Given the description of an element on the screen output the (x, y) to click on. 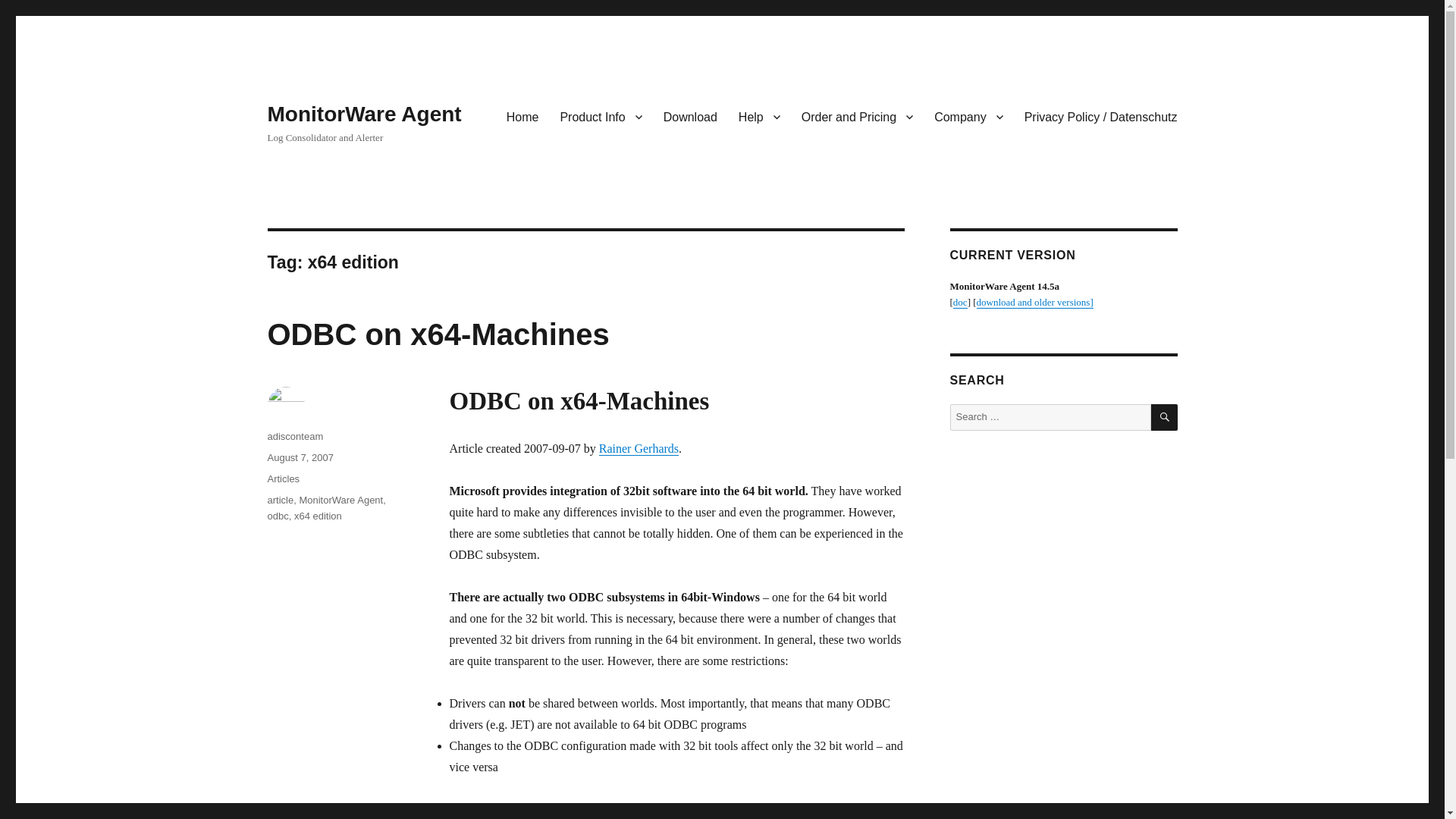
Help (759, 116)
download (1034, 301)
August 7, 2007 (299, 457)
Rainer Gerhards (638, 448)
MonitorWare Agent (340, 500)
article (280, 500)
Home (523, 116)
Download (690, 116)
Product Info (600, 116)
odbc (277, 515)
